Given the description of an element on the screen output the (x, y) to click on. 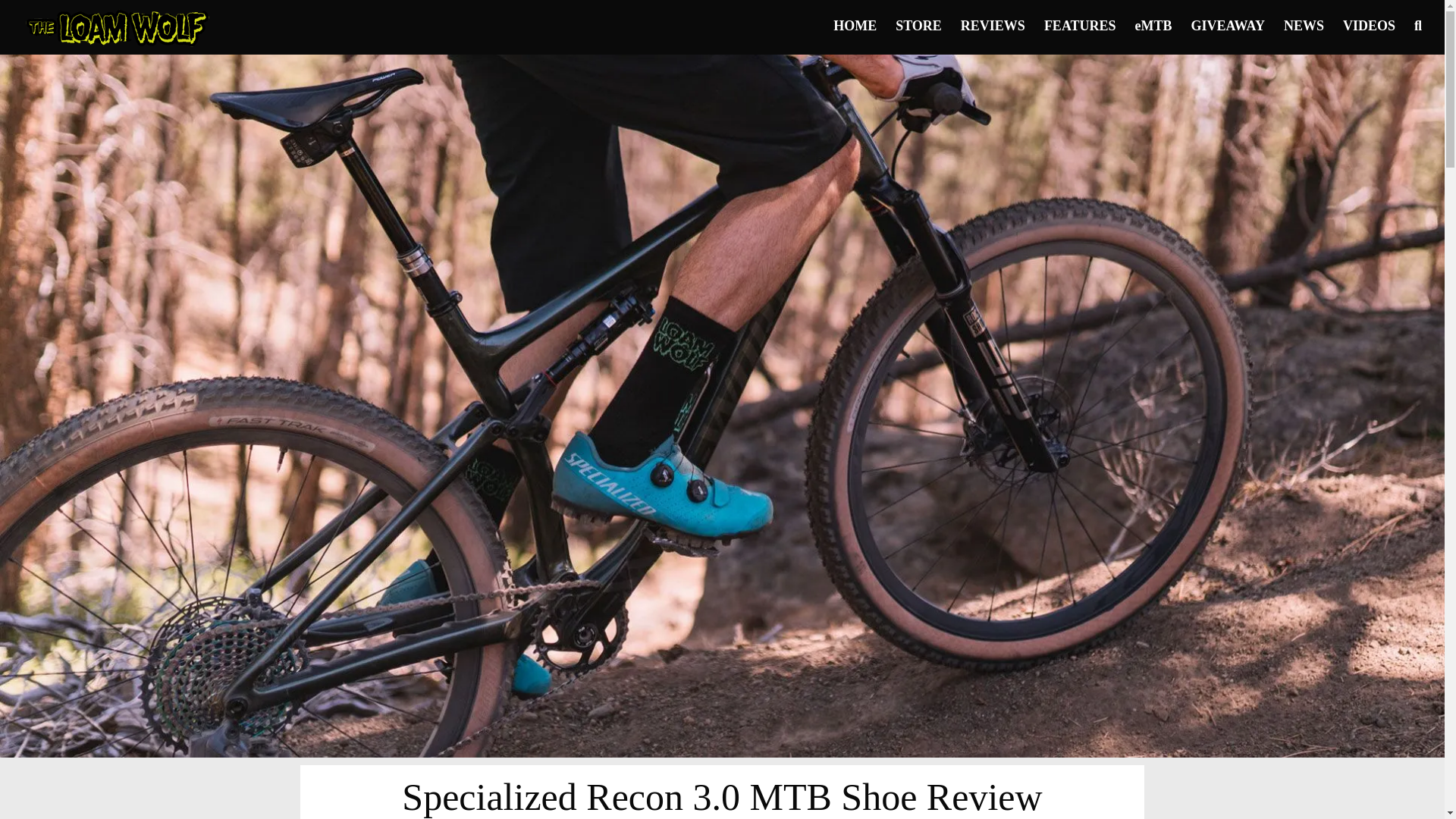
REVIEWS (992, 24)
GIVEAWAY (1228, 24)
VIDEOS (1368, 24)
STORE (918, 24)
HOME (854, 24)
FEATURES (1079, 24)
